Given the description of an element on the screen output the (x, y) to click on. 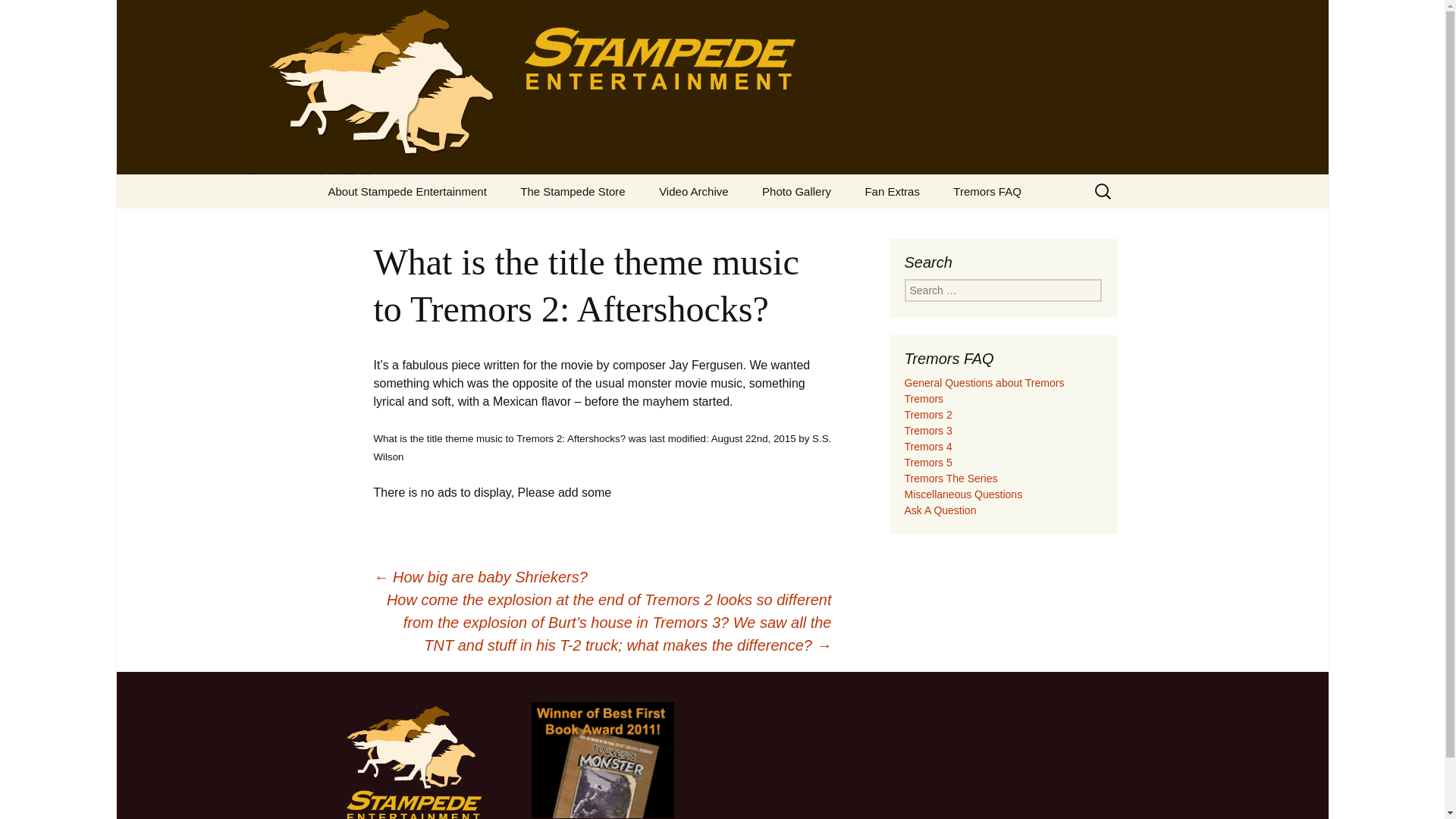
The Stampede Store (572, 191)
Tremors (718, 225)
Tremors 2: Aftershocks (822, 225)
Photo Gallery (795, 191)
Books (580, 225)
Video Archive (692, 191)
About Stampede Entertainment (406, 191)
tuckers-monster-ad (601, 759)
NANCY ROBERTS (388, 225)
tuckers-monster-ad (601, 758)
